Given the description of an element on the screen output the (x, y) to click on. 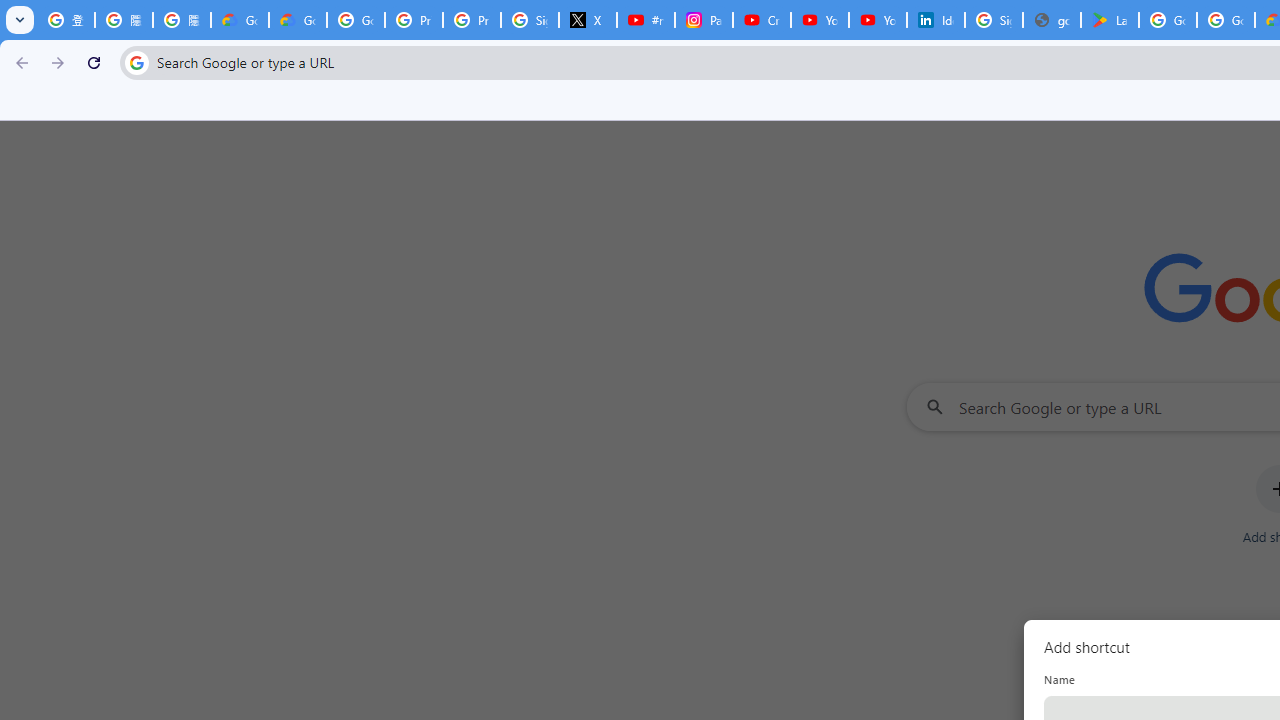
Sign in - Google Accounts (993, 20)
Last Shelter: Survival - Apps on Google Play (1110, 20)
YouTube Culture & Trends - YouTube Top 10, 2021 (877, 20)
Sign in - Google Accounts (529, 20)
X (587, 20)
Google Workspace - Specific Terms (1225, 20)
google_privacy_policy_en.pdf (1051, 20)
